Given the description of an element on the screen output the (x, y) to click on. 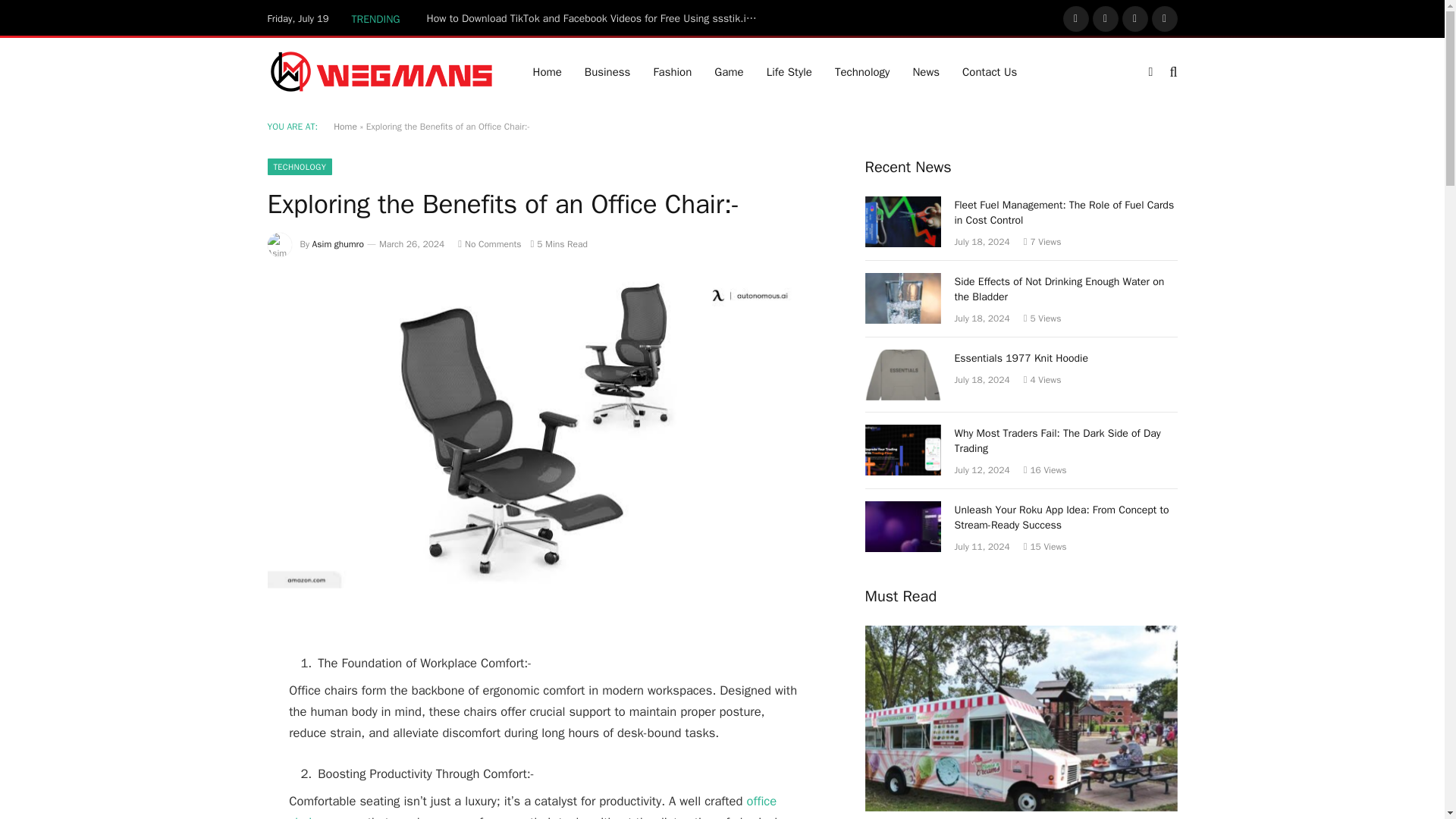
Contact Us (988, 71)
Switch to Dark Design - easier on eyes. (1149, 70)
No Comments (489, 244)
Business (607, 71)
Technology (862, 71)
Pinterest (1164, 18)
Facebook (1075, 18)
wegmans.co.uk (380, 71)
Instagram (1135, 18)
Posts by Asim ghumro (338, 244)
Home (547, 71)
Asim ghumro (338, 244)
TECHNOLOGY (298, 166)
Home (344, 126)
